Given the description of an element on the screen output the (x, y) to click on. 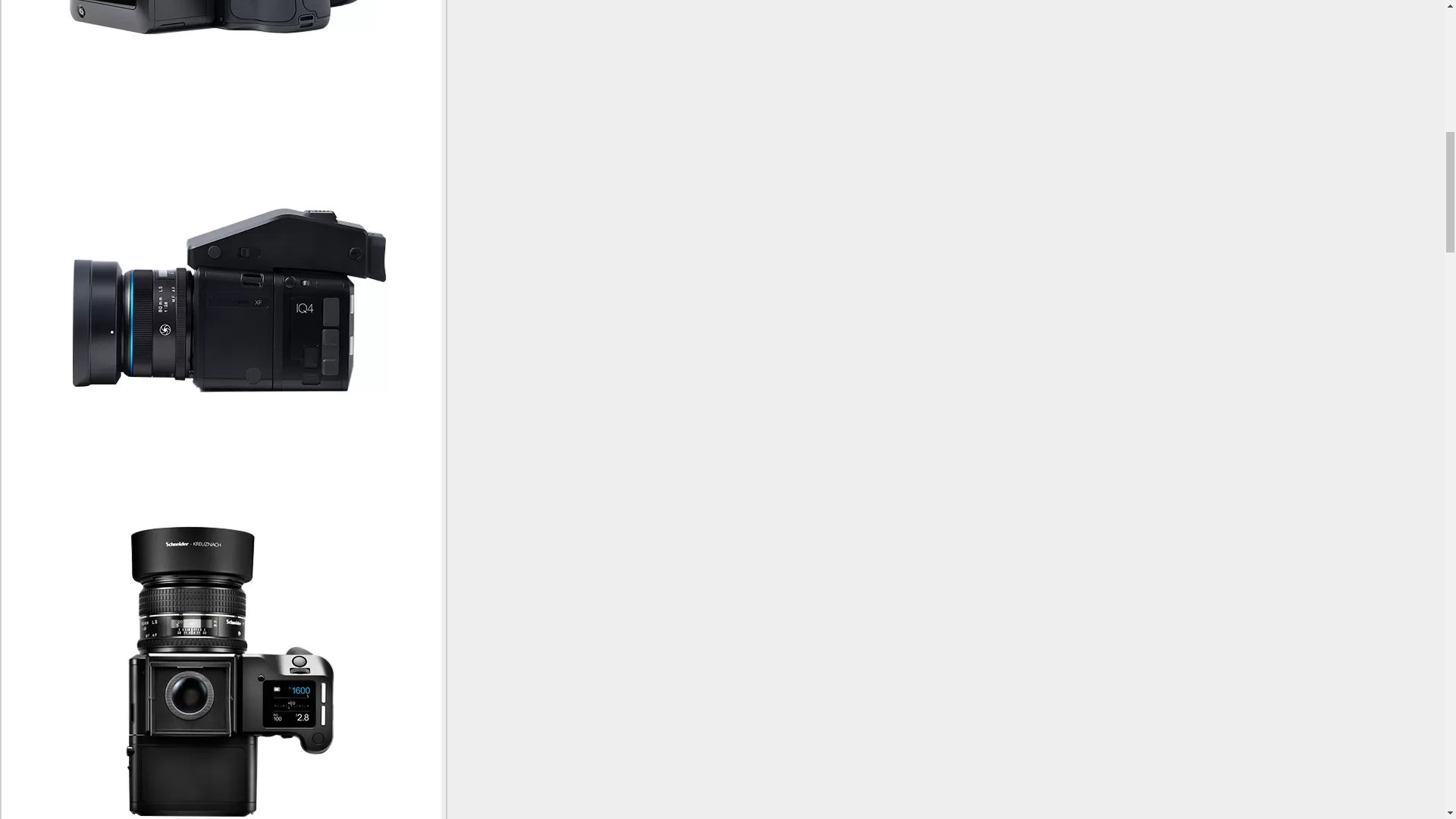
Prespective 2 (221, 61)
